Given the description of an element on the screen output the (x, y) to click on. 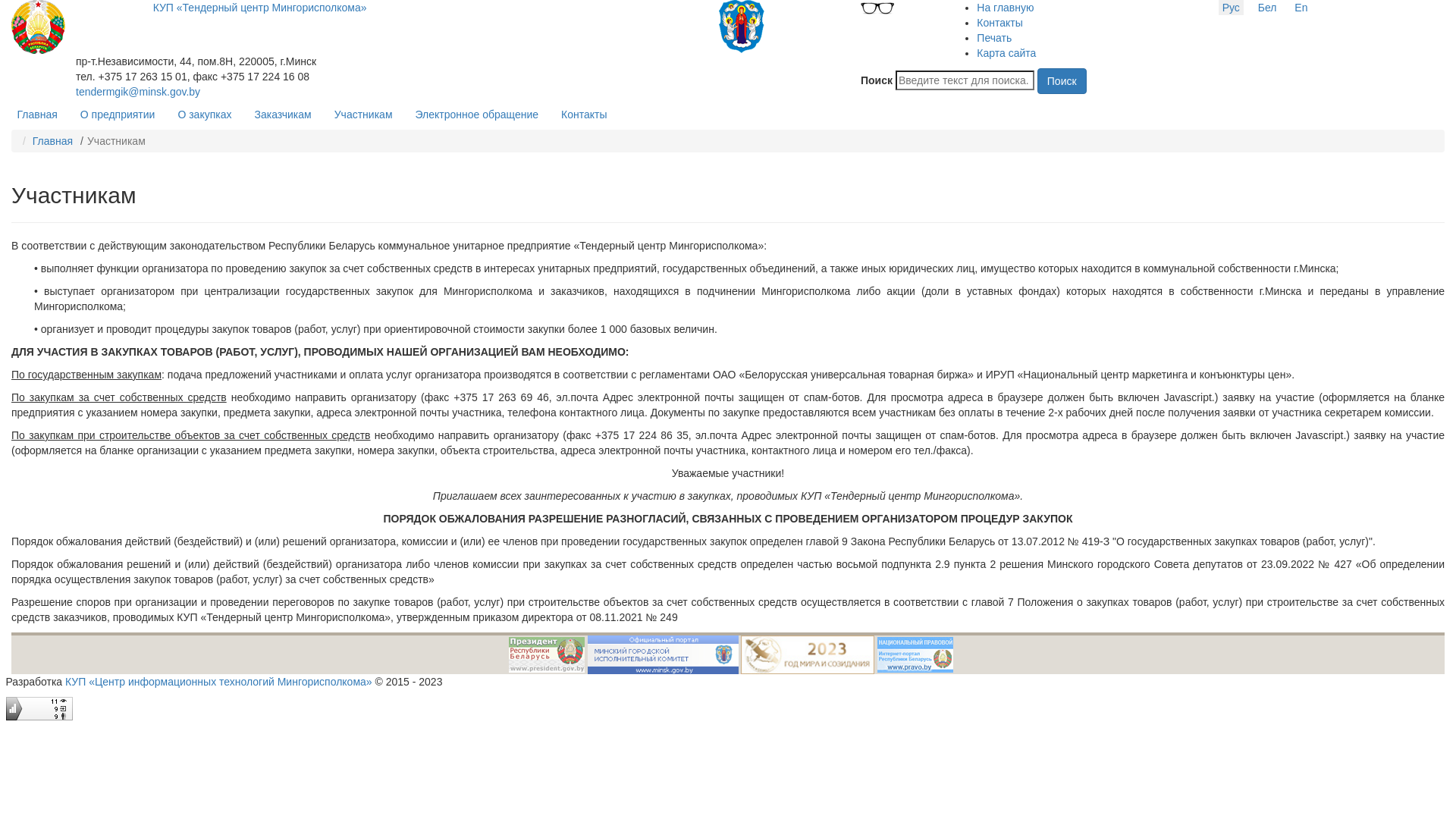
tendermgik@minsk.gov.by Element type: text (137, 91)
